Given the description of an element on the screen output the (x, y) to click on. 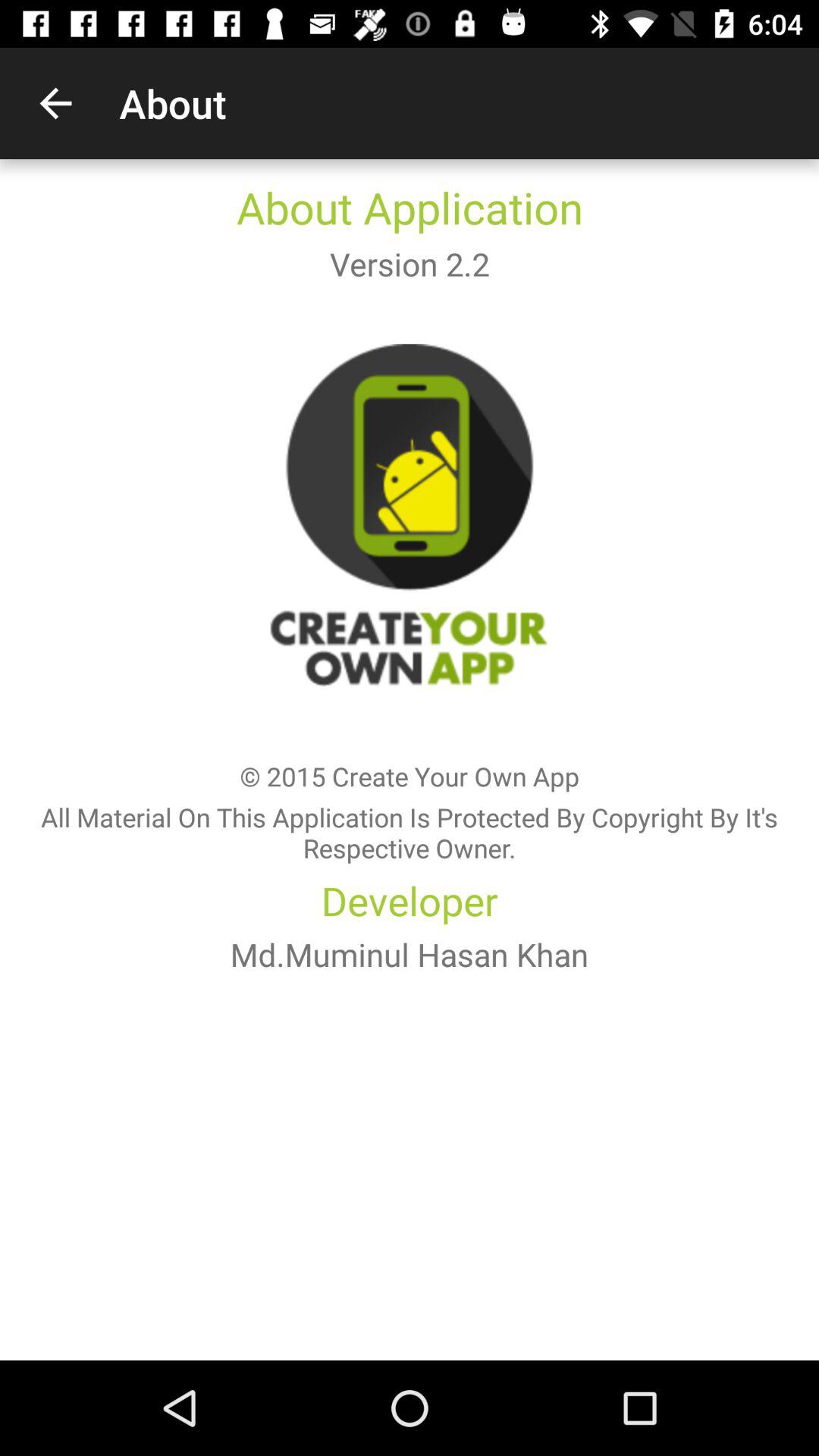
open the app next to the about app (55, 103)
